Given the description of an element on the screen output the (x, y) to click on. 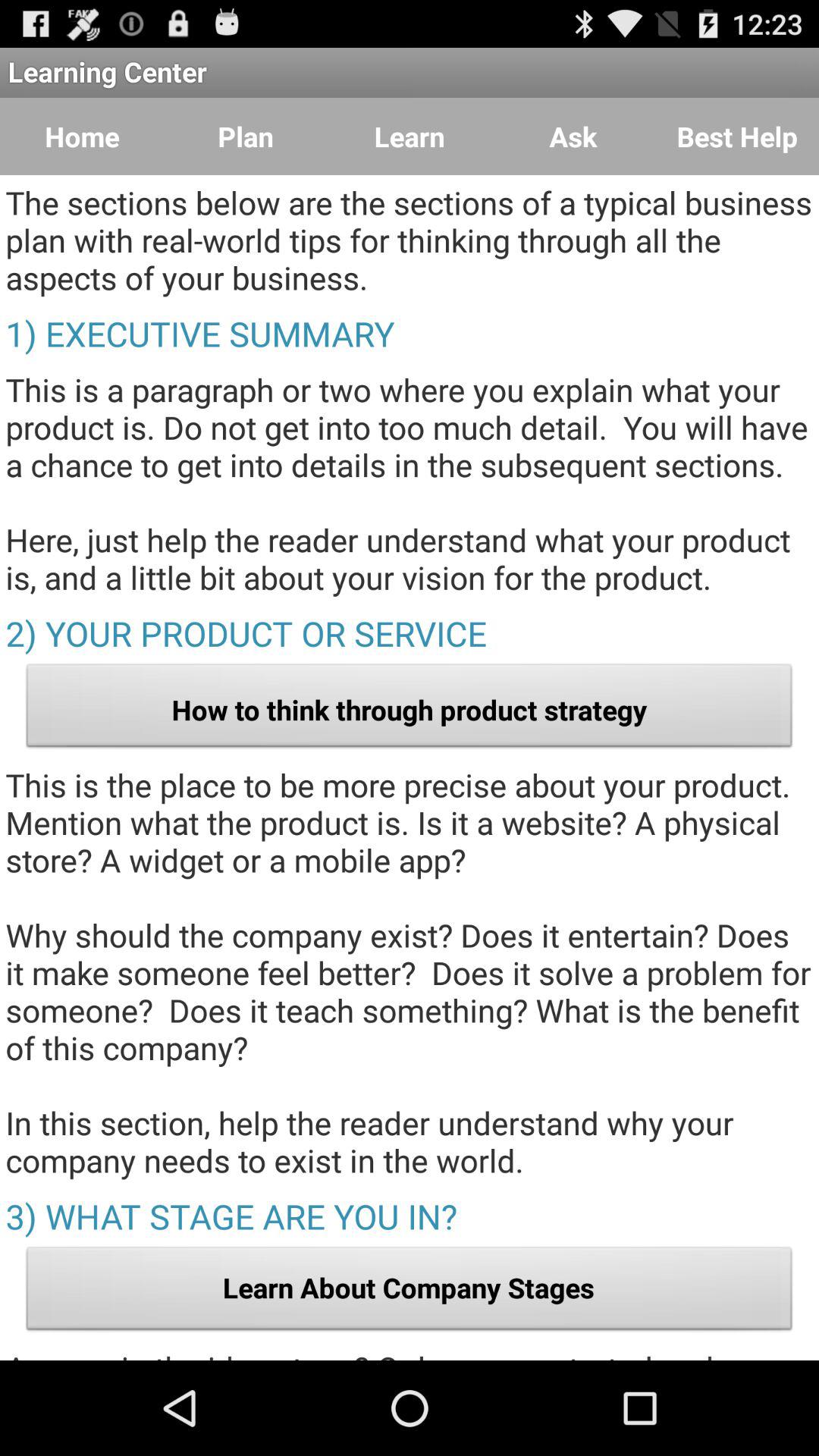
choose the icon next to ask item (737, 136)
